Given the description of an element on the screen output the (x, y) to click on. 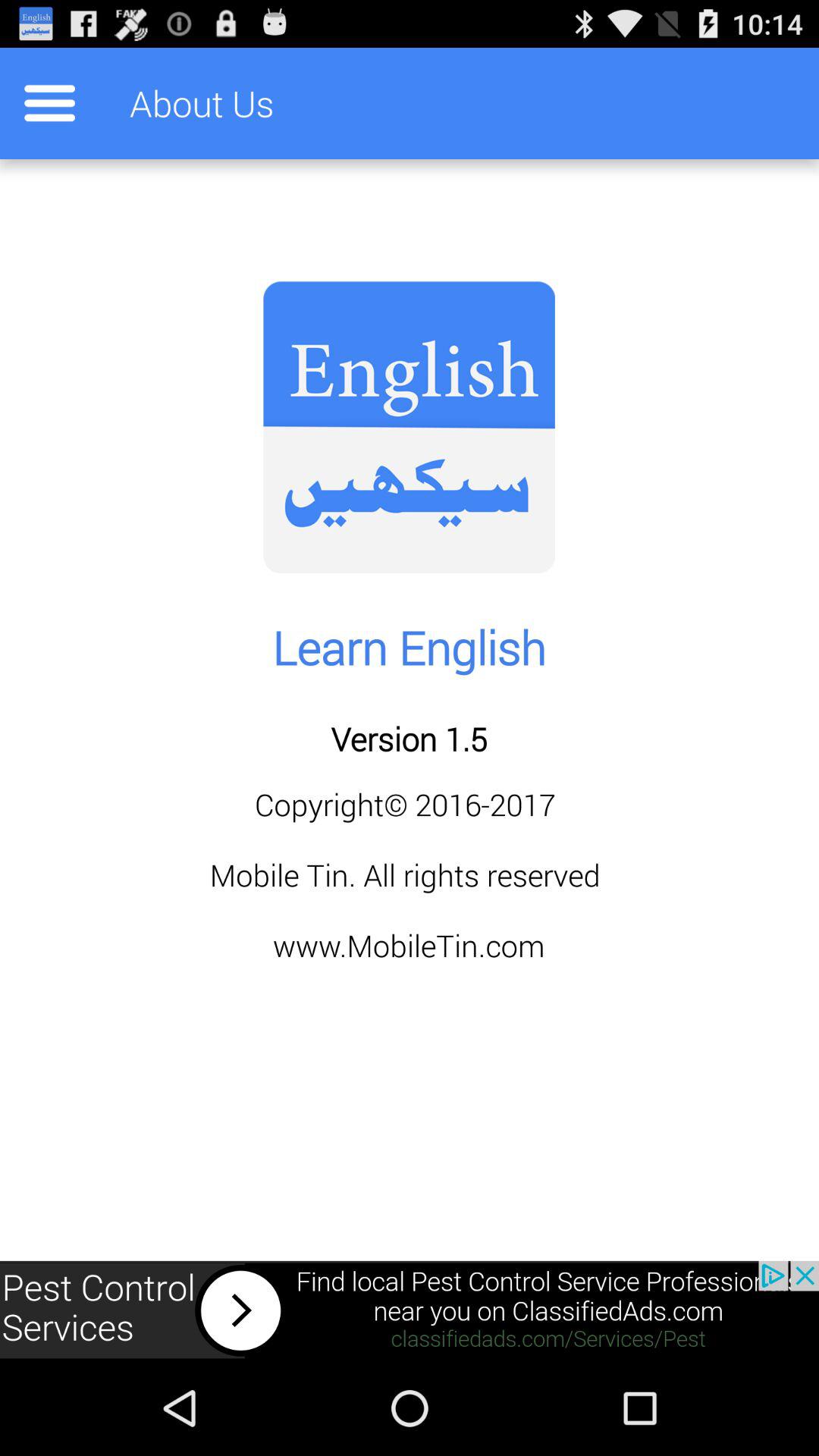
banner advertisement (409, 1310)
